Given the description of an element on the screen output the (x, y) to click on. 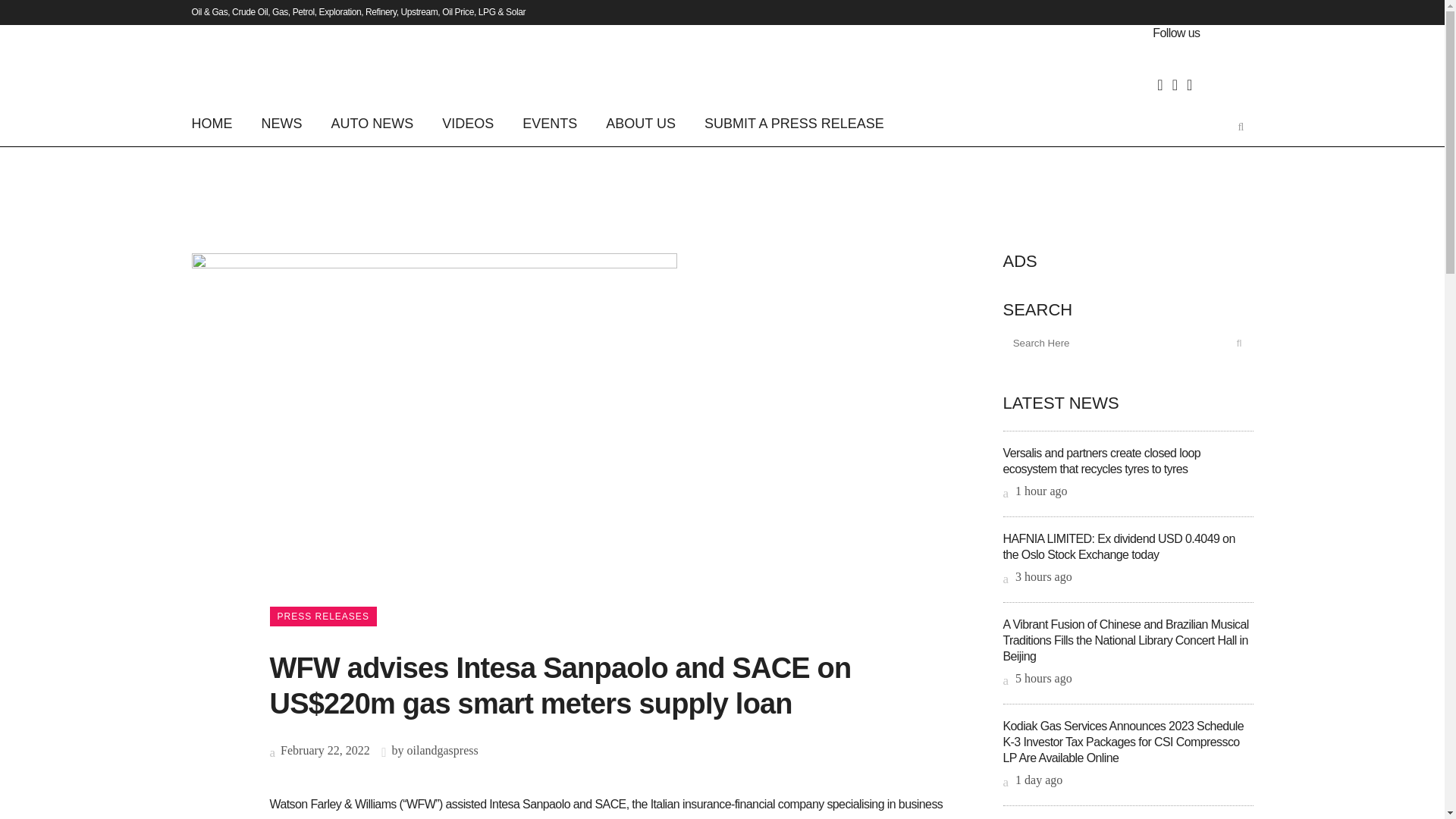
AUTO NEWS (372, 123)
PRESS RELEASES (323, 616)
VIDEOS (468, 123)
February 22, 2022 (319, 749)
oilandgaspress (441, 749)
NEWS (282, 123)
HOME (218, 123)
